Given the description of an element on the screen output the (x, y) to click on. 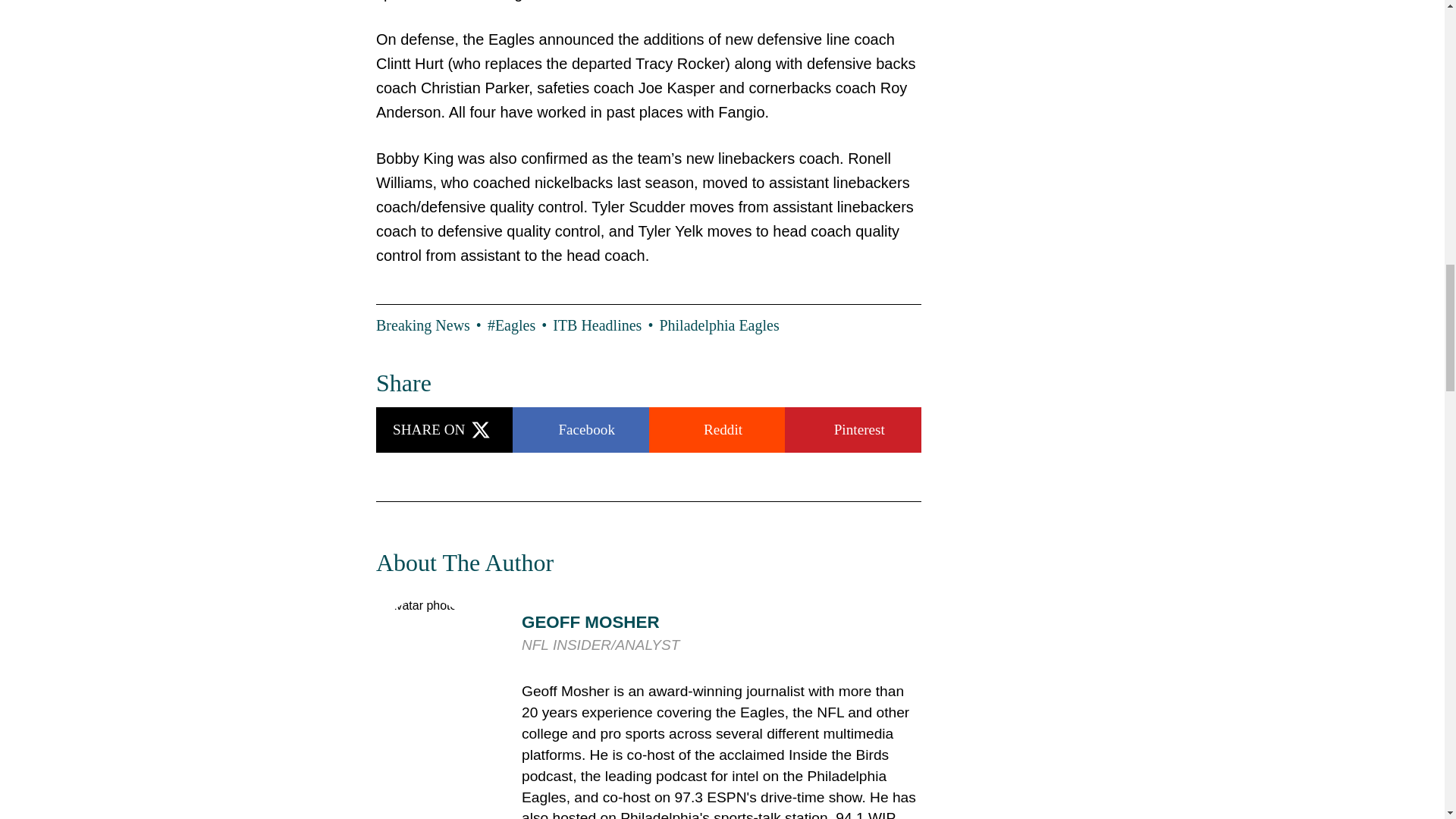
ITB Headlines (606, 325)
Facebook (580, 429)
Reddit (717, 429)
Share to X (443, 429)
Philadelphia Eagles (718, 325)
Pinterest (852, 429)
SHARE ON (443, 429)
Breaking News (431, 325)
